Given the description of an element on the screen output the (x, y) to click on. 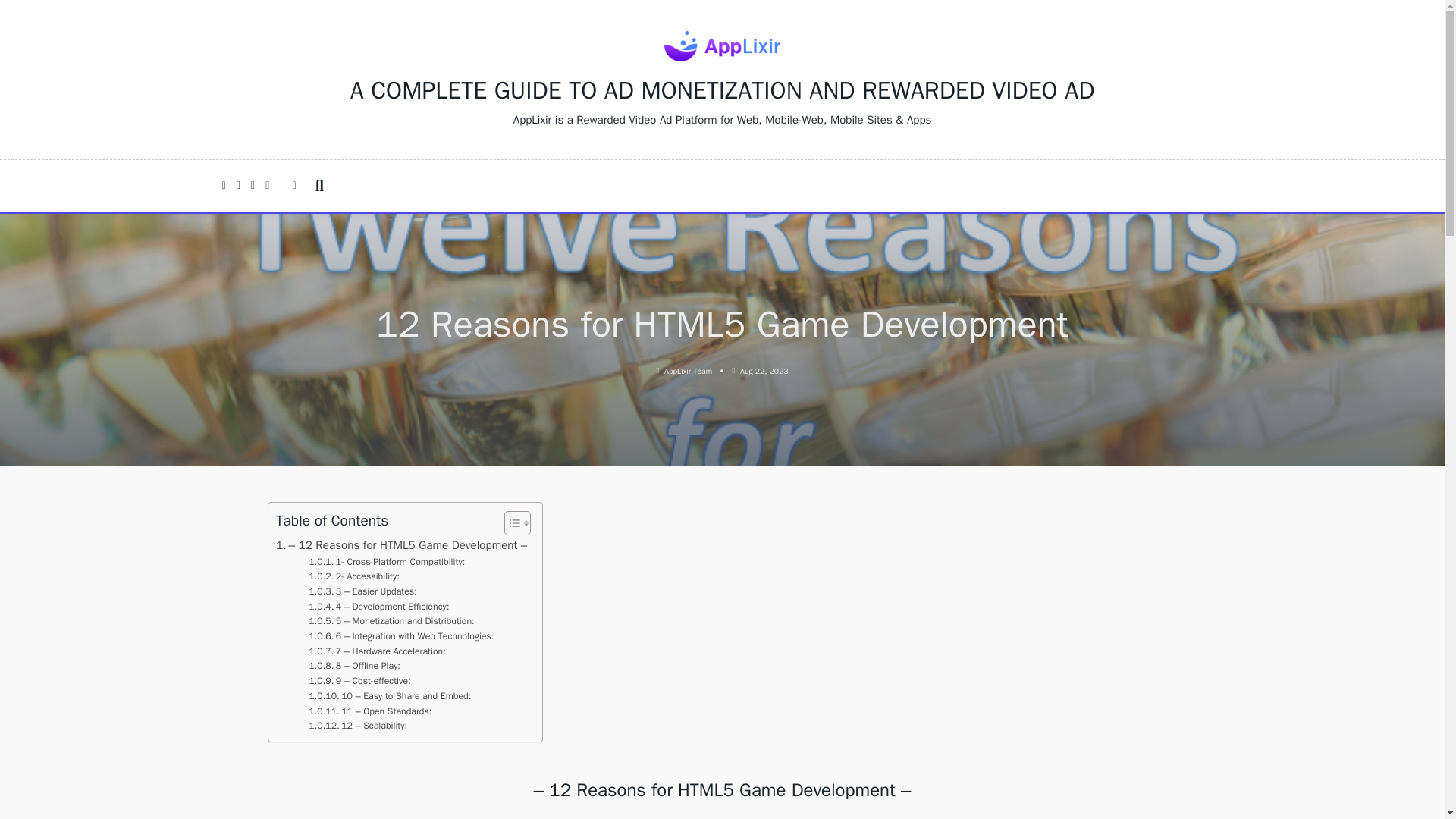
Aug 22, 2023 (763, 370)
2- Accessibility: (353, 576)
A COMPLETE GUIDE TO AD MONETIZATION AND REWARDED VIDEO AD (722, 90)
AppLixir Team (687, 370)
1- Cross-Platform Compatibility: (386, 562)
1- Cross-Platform Compatibility: (386, 562)
2- Accessibility: (353, 576)
